Given the description of an element on the screen output the (x, y) to click on. 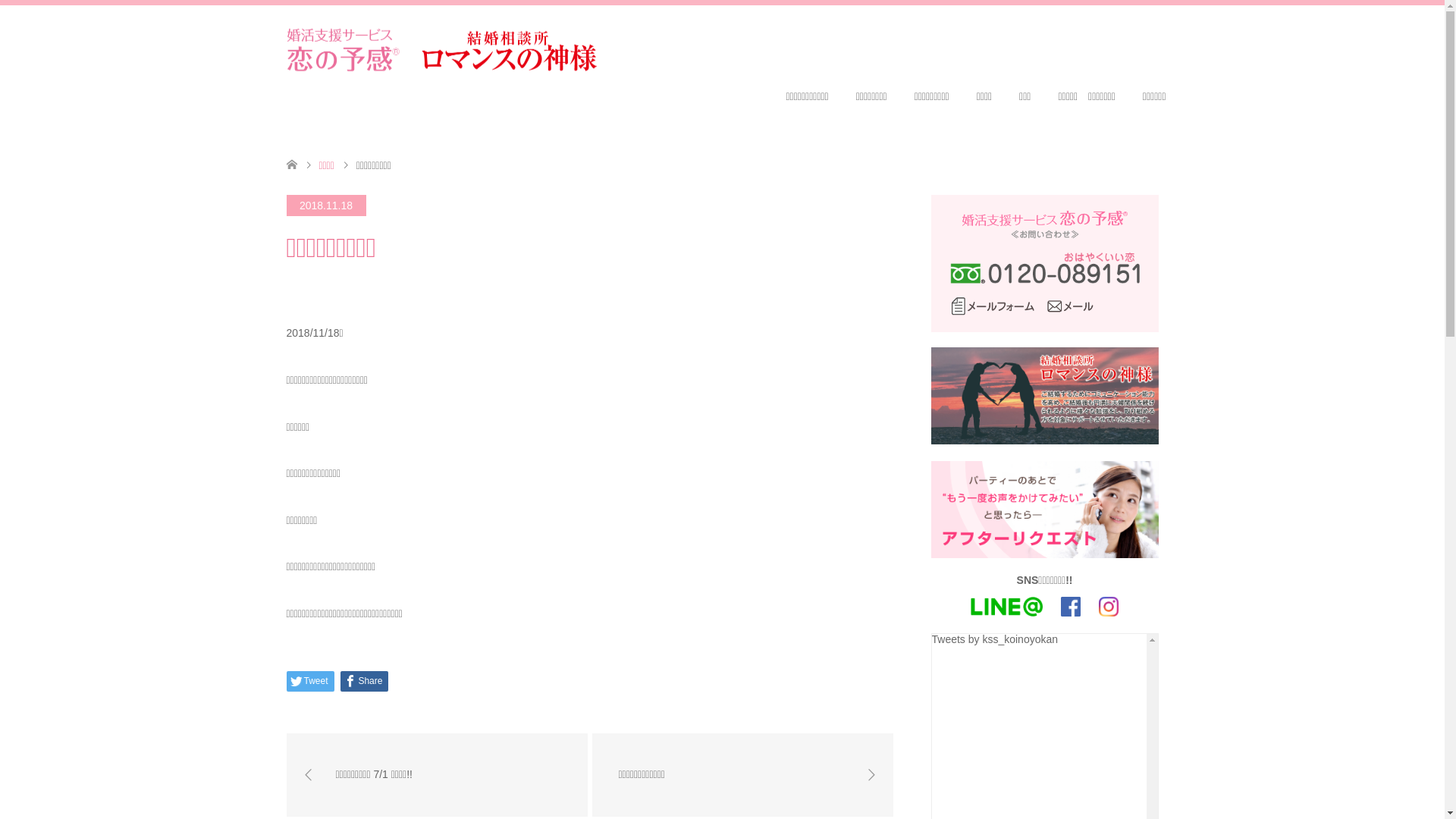
Share Element type: text (364, 681)
Tweet Element type: text (310, 681)
Tweets by kss_koinoyokan Element type: text (994, 639)
